Given the description of an element on the screen output the (x, y) to click on. 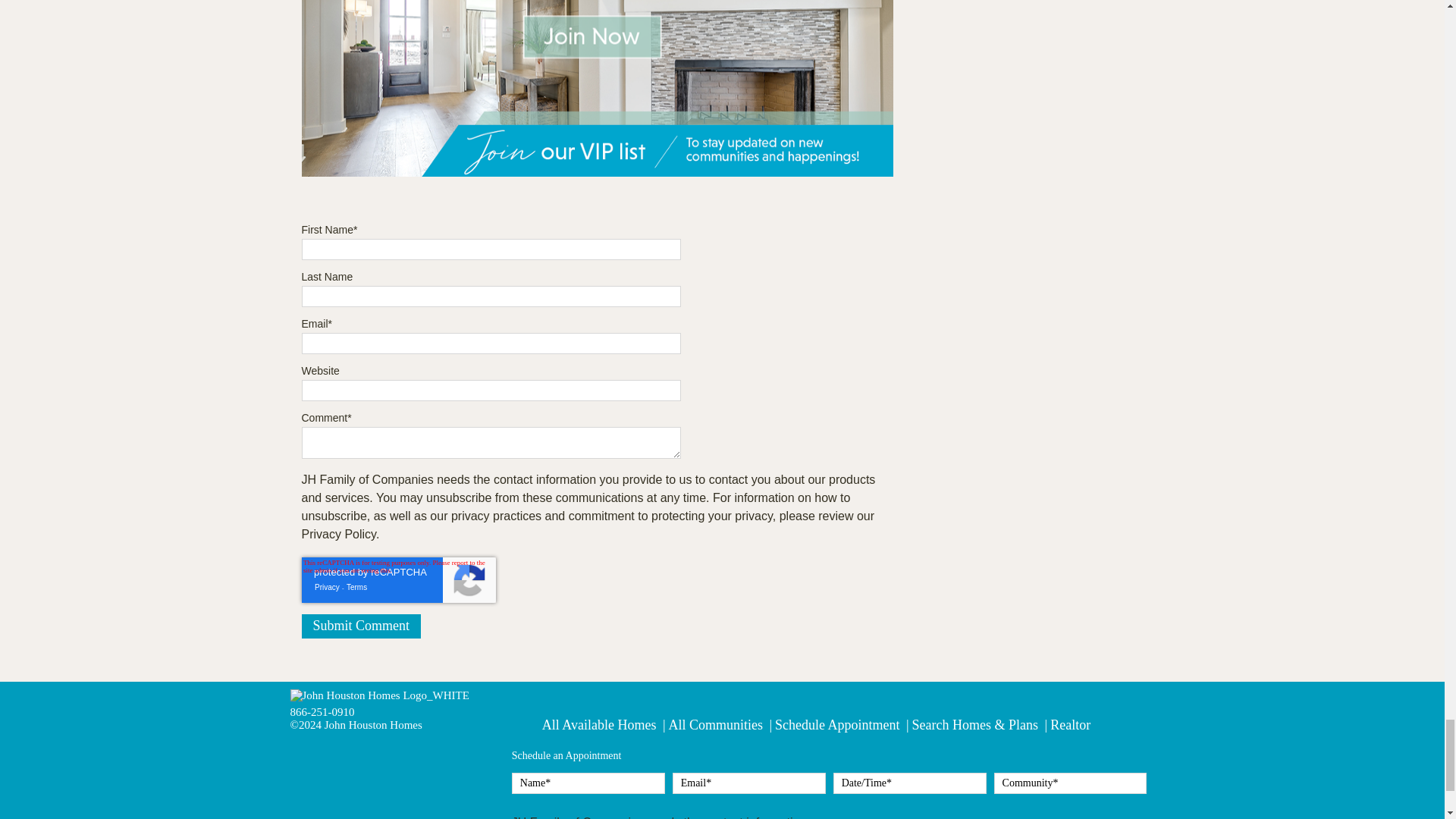
Submit Comment (361, 626)
reCAPTCHA (398, 579)
